Given the description of an element on the screen output the (x, y) to click on. 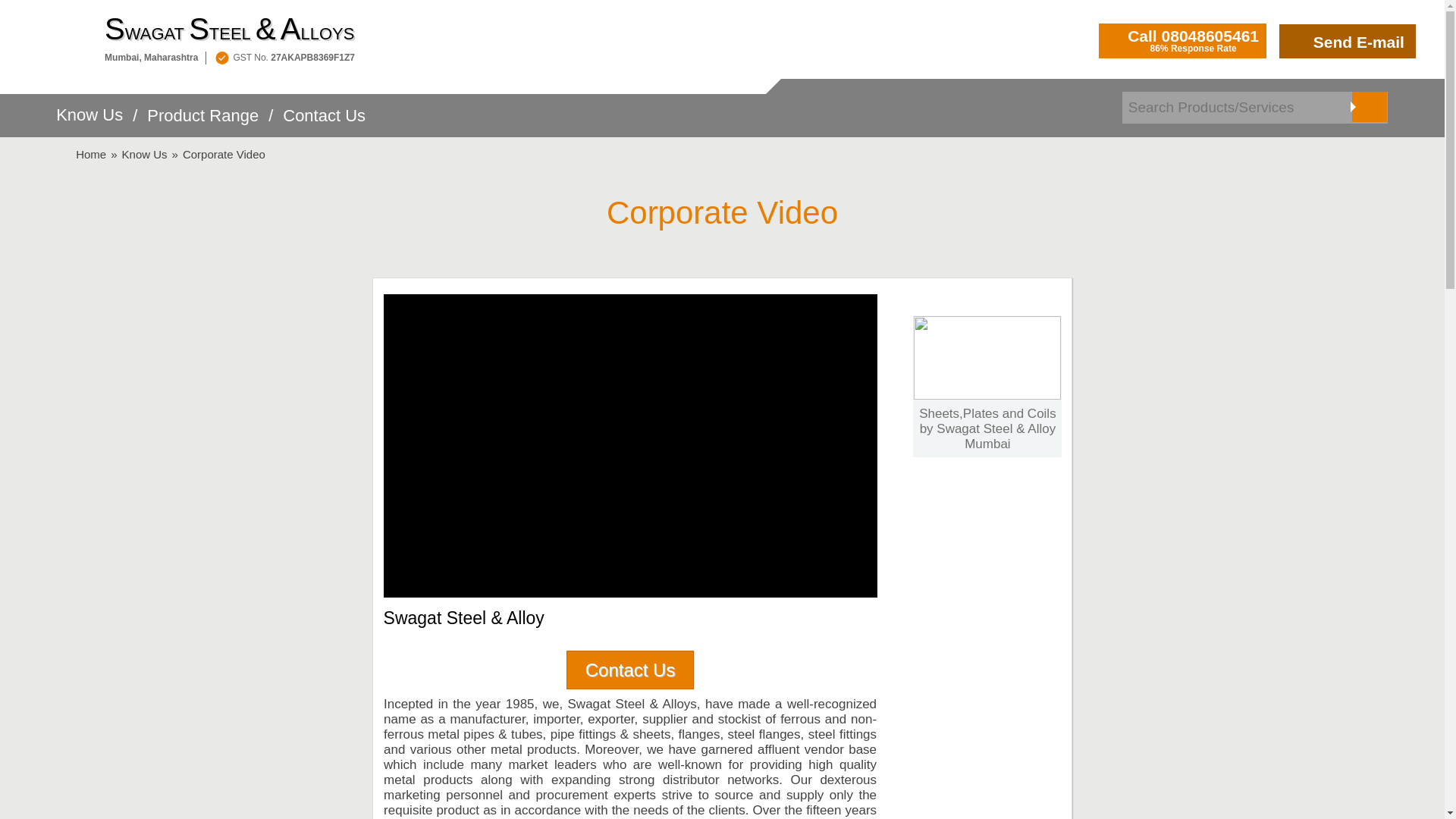
Home (90, 154)
Know Us (144, 154)
Know Us (89, 123)
Product Range (203, 124)
Contact Us (323, 124)
